Given the description of an element on the screen output the (x, y) to click on. 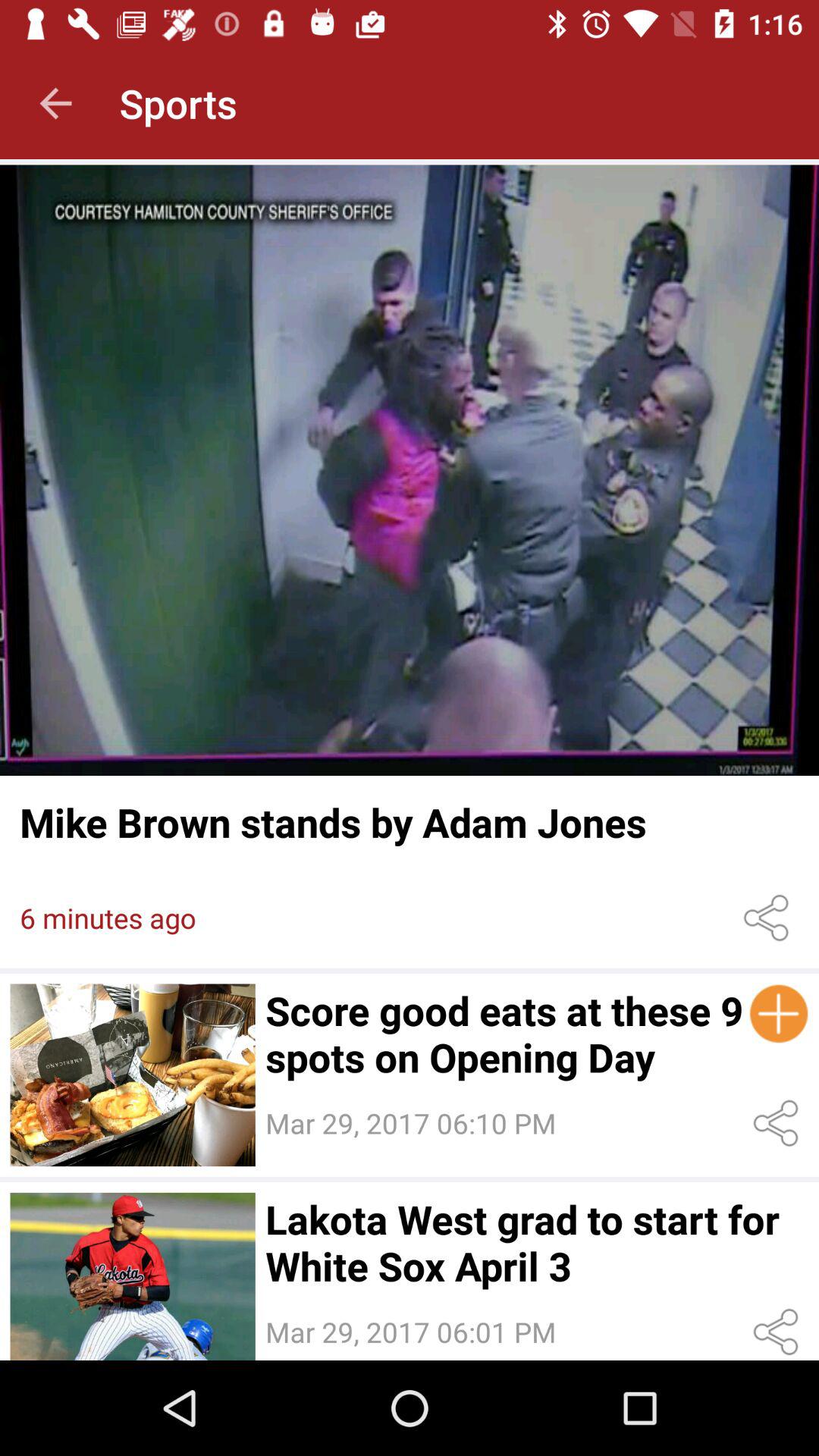
tap app to the left of sports app (55, 103)
